Given the description of an element on the screen output the (x, y) to click on. 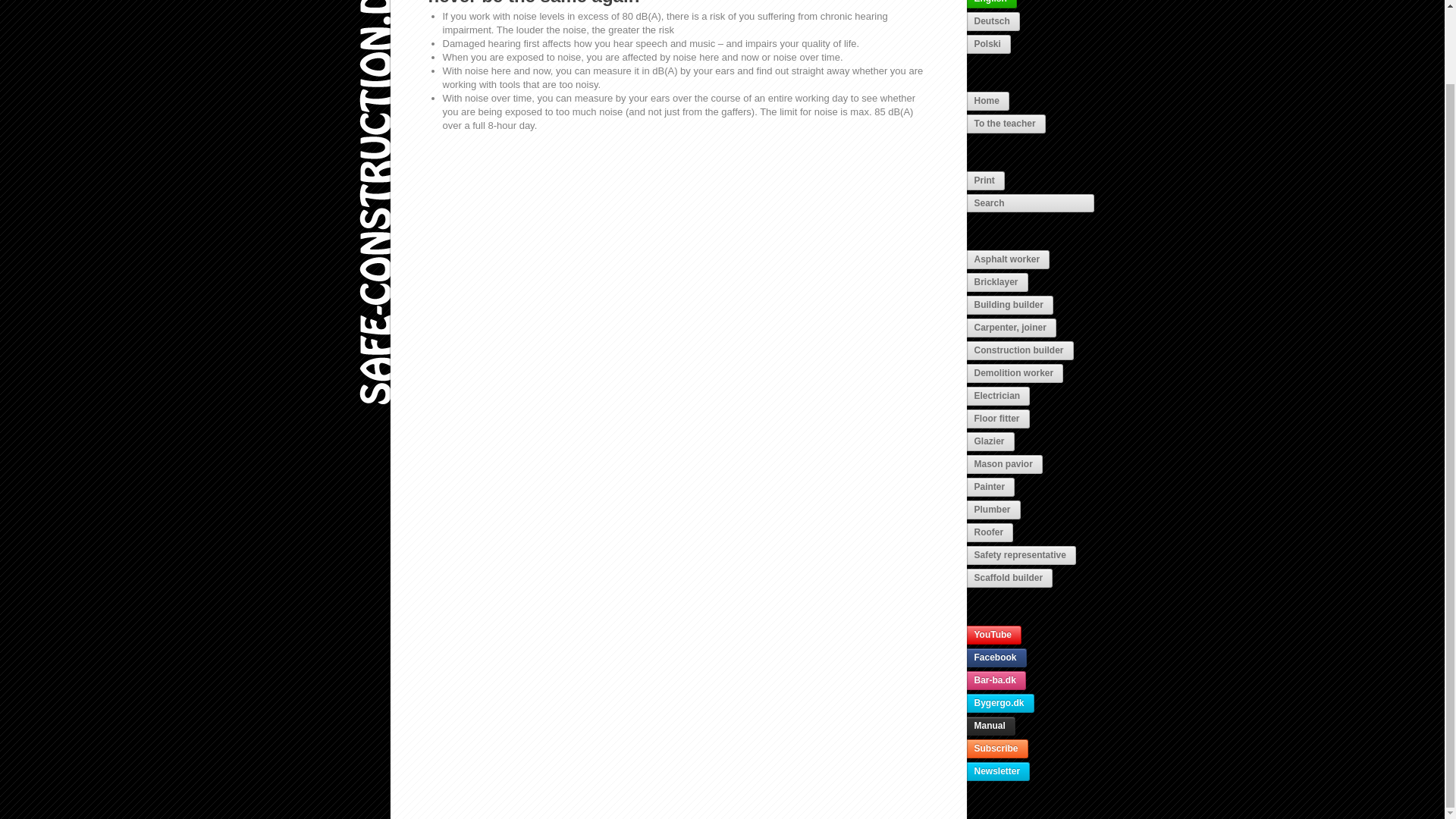
Roofer (989, 532)
To the teacher (1005, 123)
Manual (990, 725)
Glazier (989, 441)
Home (374, 569)
Painter (990, 486)
Print (985, 180)
Bar-ba.dk (995, 680)
Deutsch (992, 21)
Bygergo.dk (999, 702)
